Given the description of an element on the screen output the (x, y) to click on. 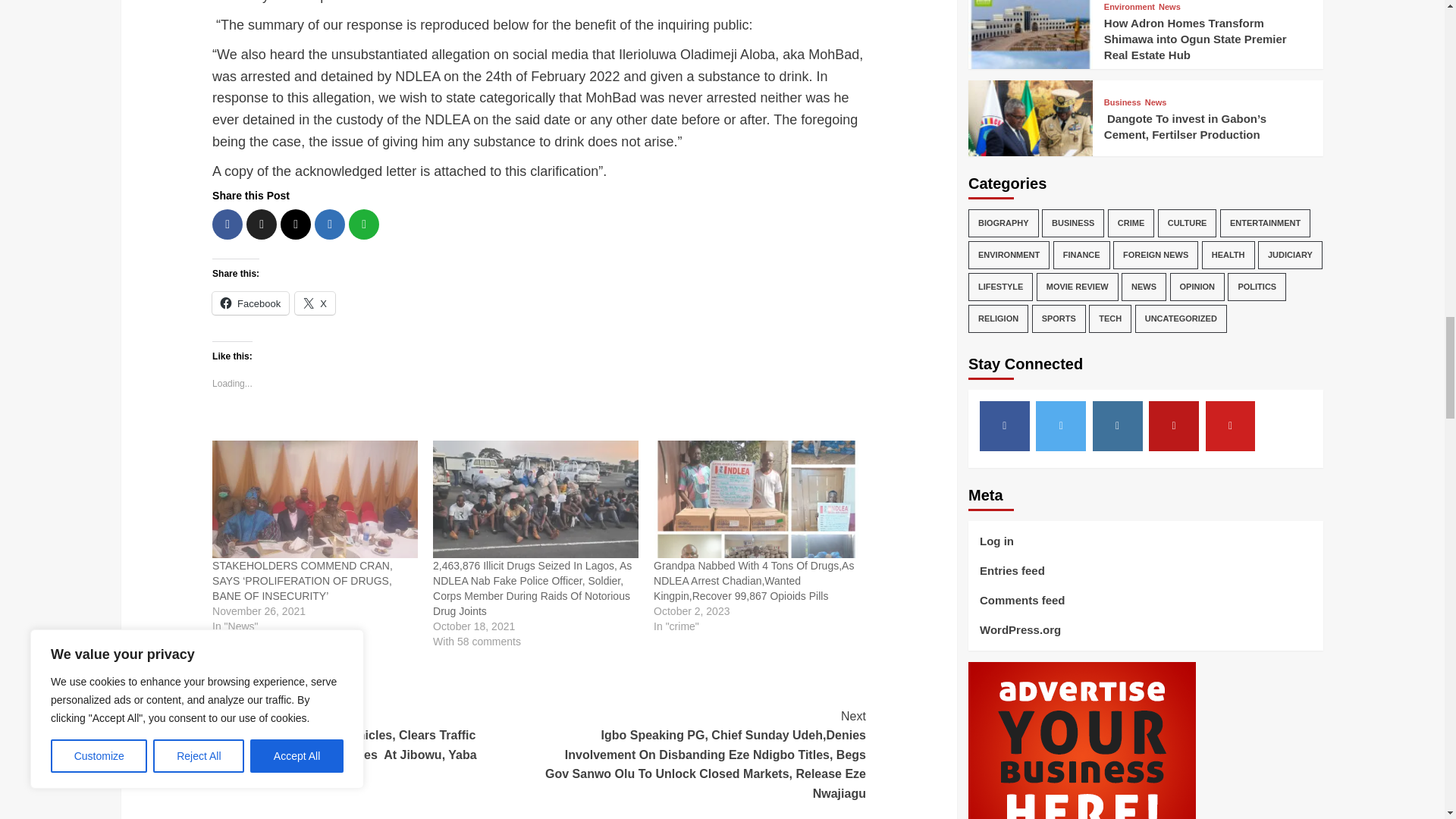
Click to share on Facebook (250, 302)
Click to share on X (314, 302)
